Given the description of an element on the screen output the (x, y) to click on. 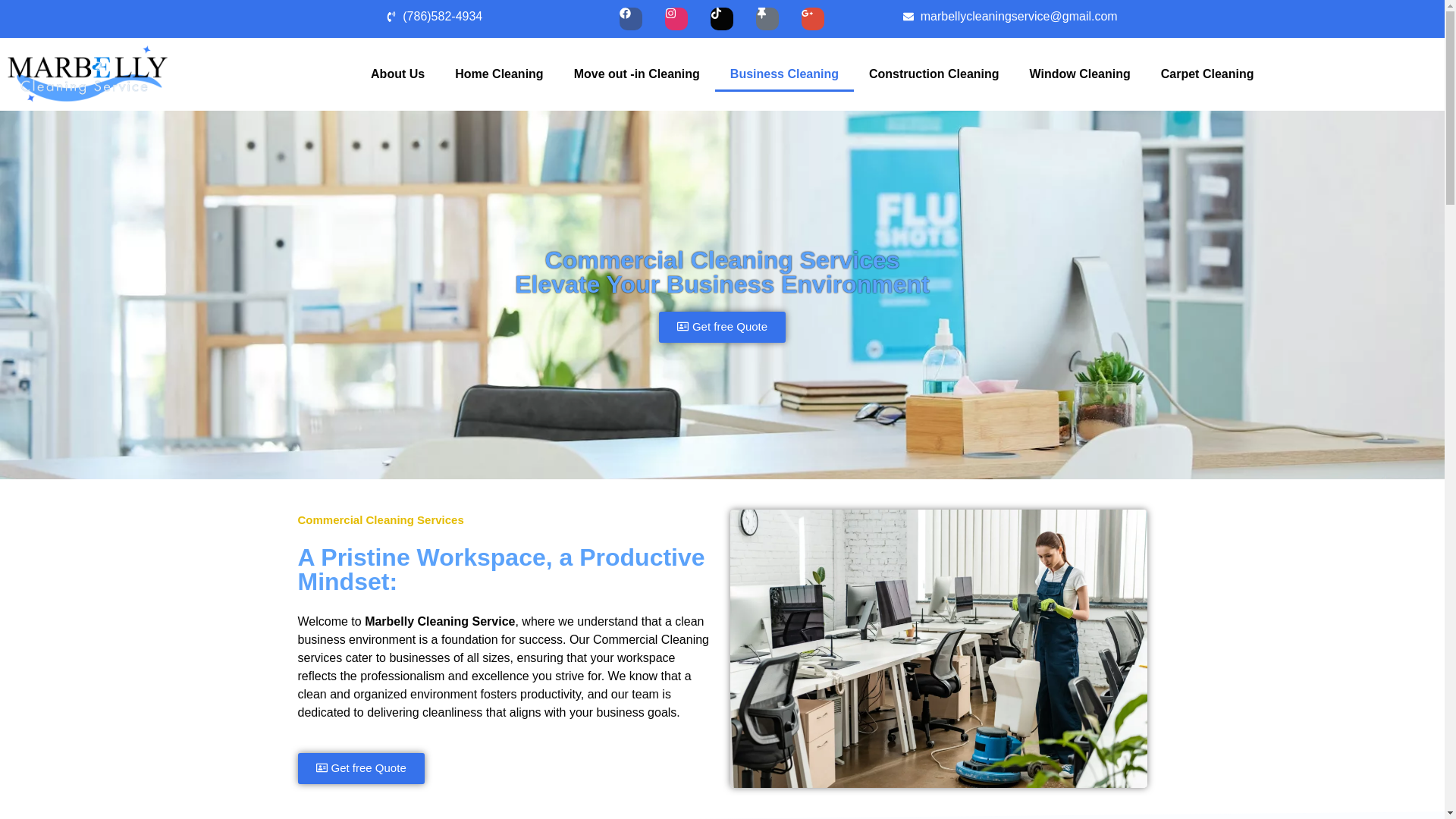
Window Cleaning (1079, 73)
Carpet Cleaning (1207, 73)
Construction Cleaning (933, 73)
Move out -in Cleaning (636, 73)
Business Cleaning (783, 73)
About Us (397, 73)
Get free Quote (722, 326)
Home Cleaning (498, 73)
